Given the description of an element on the screen output the (x, y) to click on. 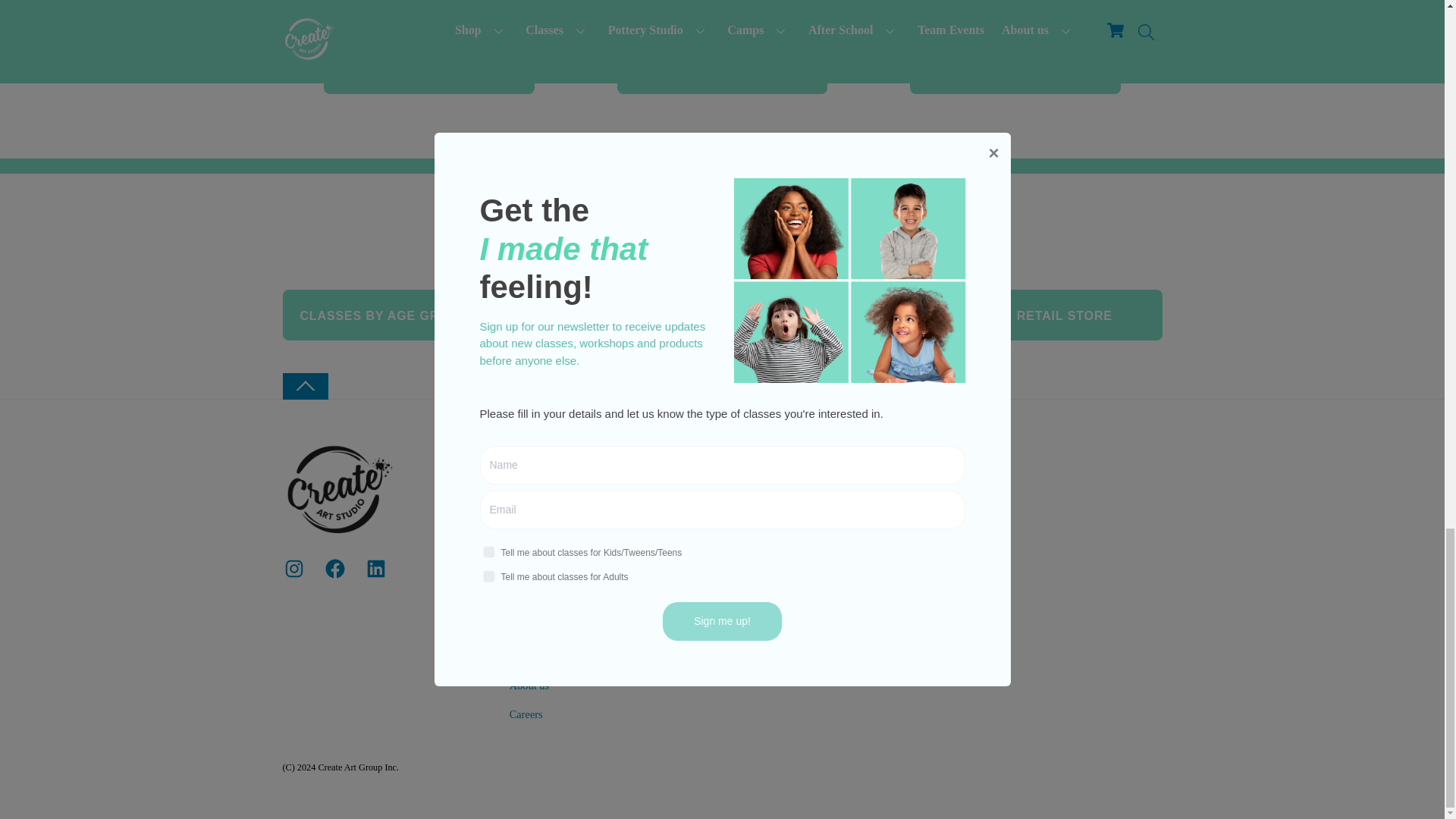
Create Art Studio (339, 528)
ART ADVENTURES (722, 67)
Stories and Art Class (428, 15)
IMAGINATION DRAWING (1014, 68)
Creative kids love Art Adventures! (722, 15)
Imagination Drawing classes for kids (1015, 15)
